Given the description of an element on the screen output the (x, y) to click on. 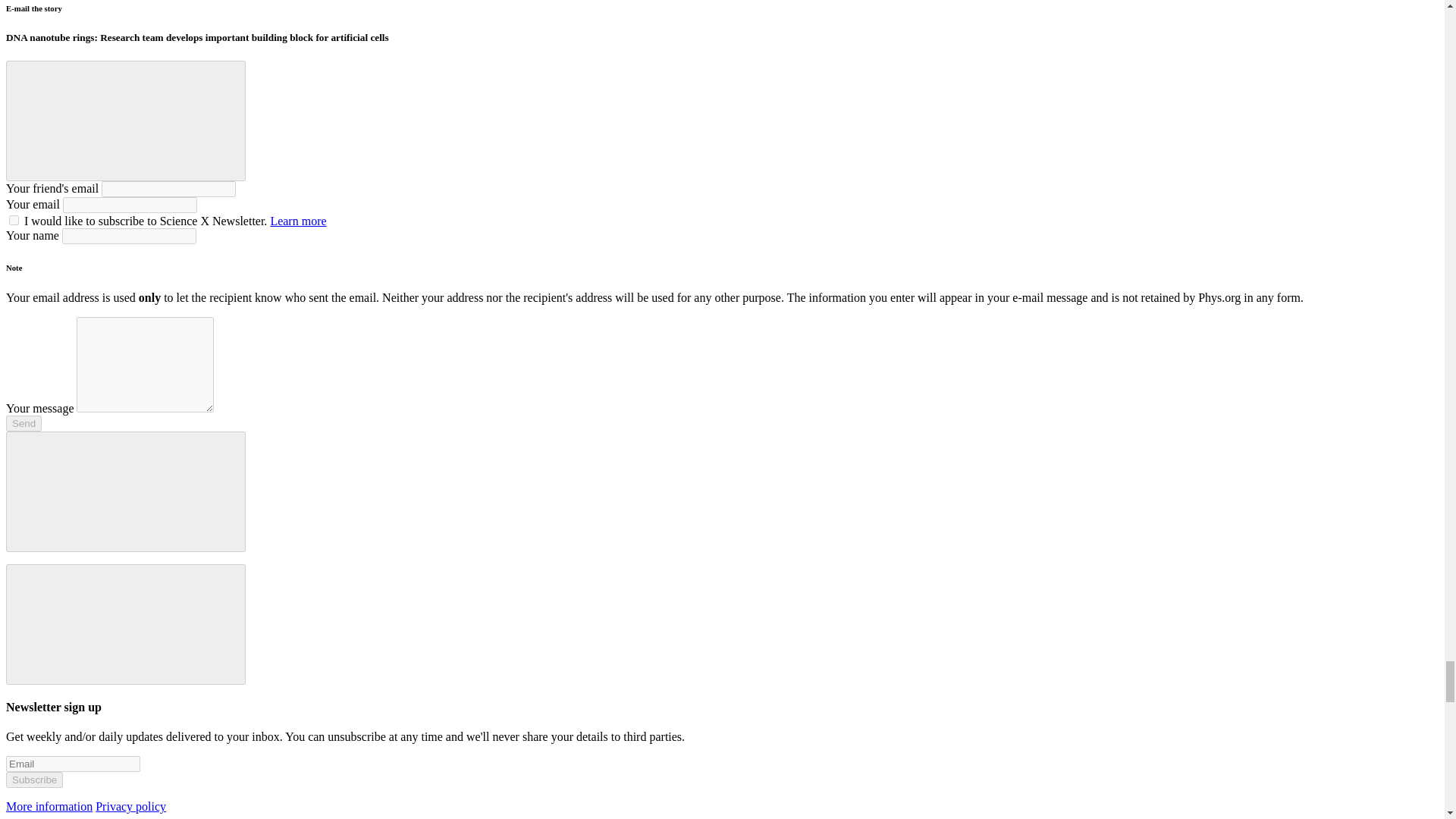
1 (13, 220)
